Given the description of an element on the screen output the (x, y) to click on. 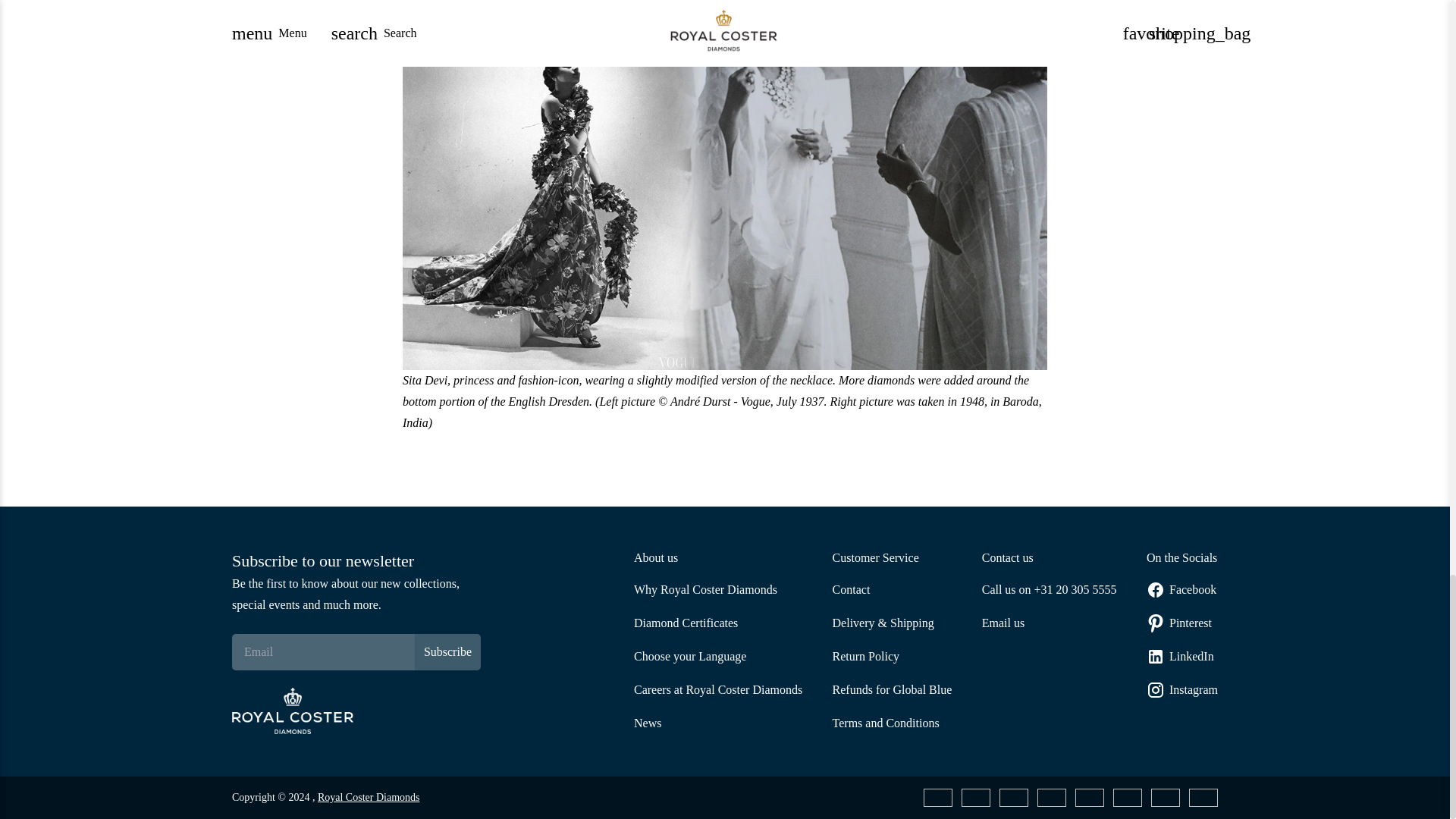
Terms and Conditions (892, 722)
Refunds for Global Blue (892, 690)
Facebook (1182, 589)
Careers at Royal Coster Diamonds (717, 690)
News (717, 722)
Return Policy (892, 656)
Choose your Language (717, 656)
Email us (1048, 622)
Contact (892, 589)
Diamond Certificates (717, 622)
Why Royal Coster Diamonds (717, 589)
Subscribe (447, 651)
